Given the description of an element on the screen output the (x, y) to click on. 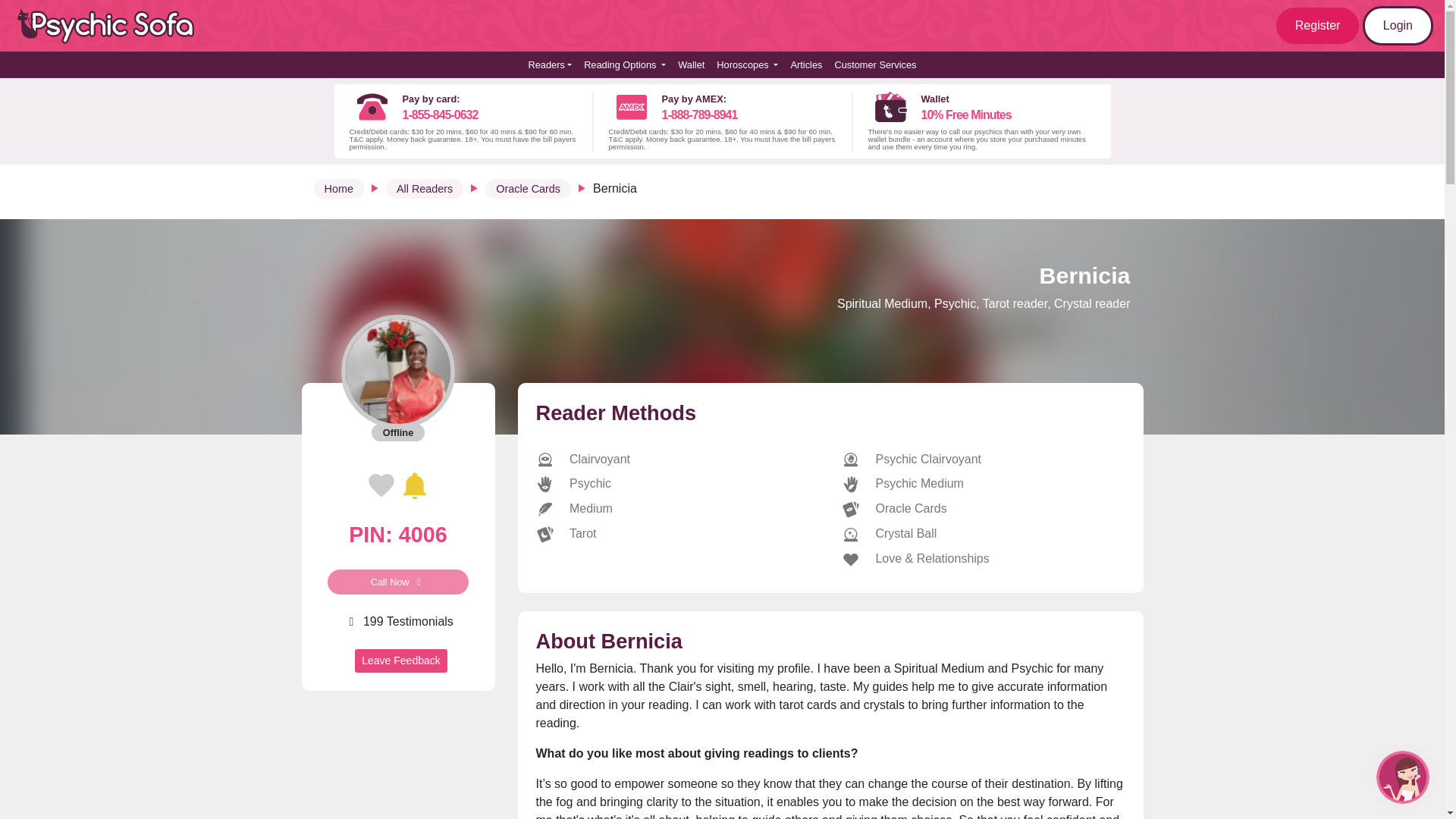
Wallet (690, 64)
Register (1317, 25)
Login (1397, 25)
Reading Options (624, 64)
Psychic Sofa Home Page Link (113, 25)
Horoscopes (747, 64)
Readers (549, 64)
